Given the description of an element on the screen output the (x, y) to click on. 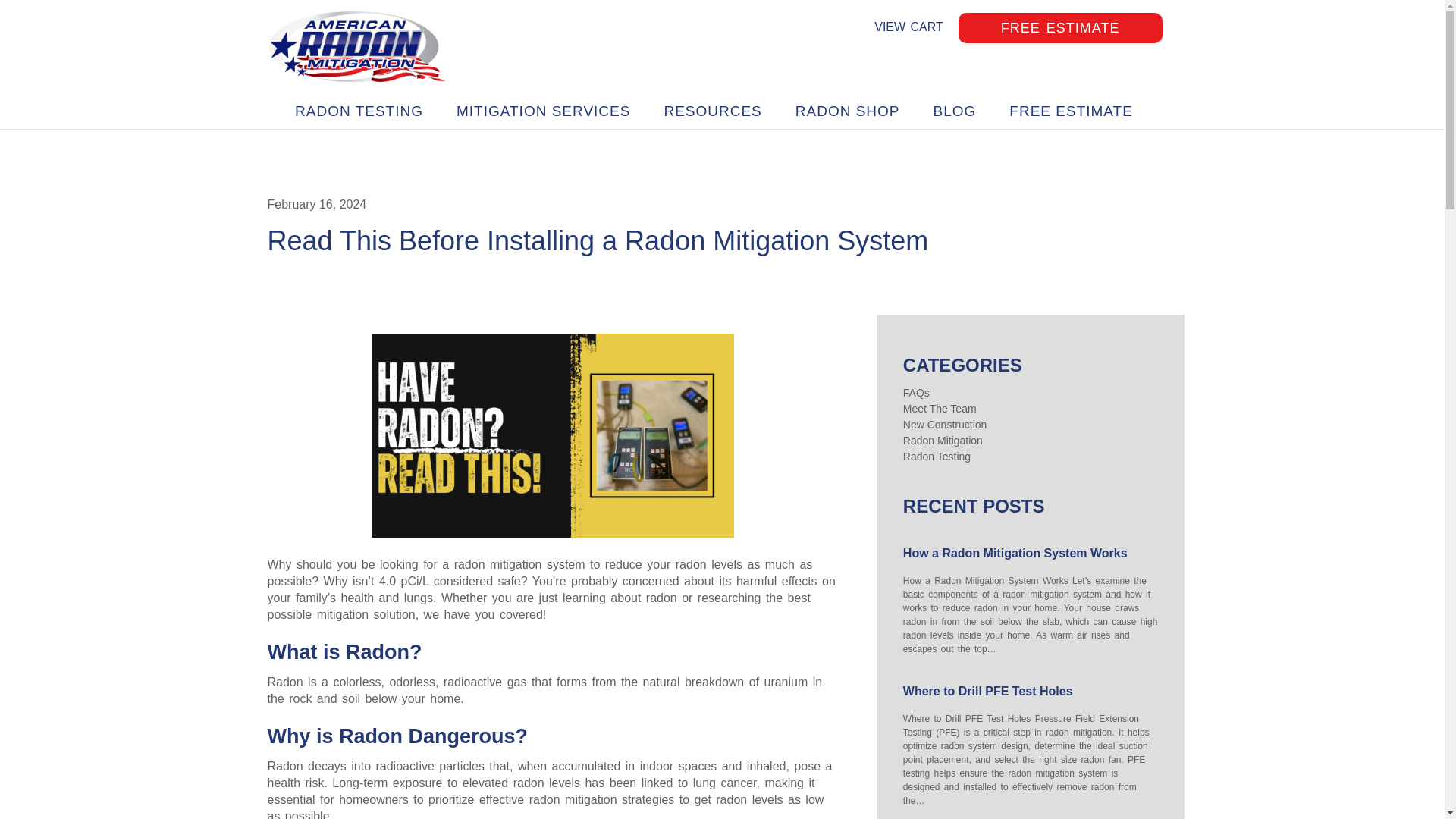
New Construction (944, 424)
American Radon Mitigation (355, 46)
FREE ESTIMATE (1071, 111)
How a Radon Mitigation System Works (1030, 553)
MITIGATION SERVICES (542, 111)
American Radon Mitigation (355, 46)
VIEW CART (909, 26)
FREE ESTIMATE (1059, 28)
Radon Mitigation (942, 440)
Radon Testing (936, 456)
